Given the description of an element on the screen output the (x, y) to click on. 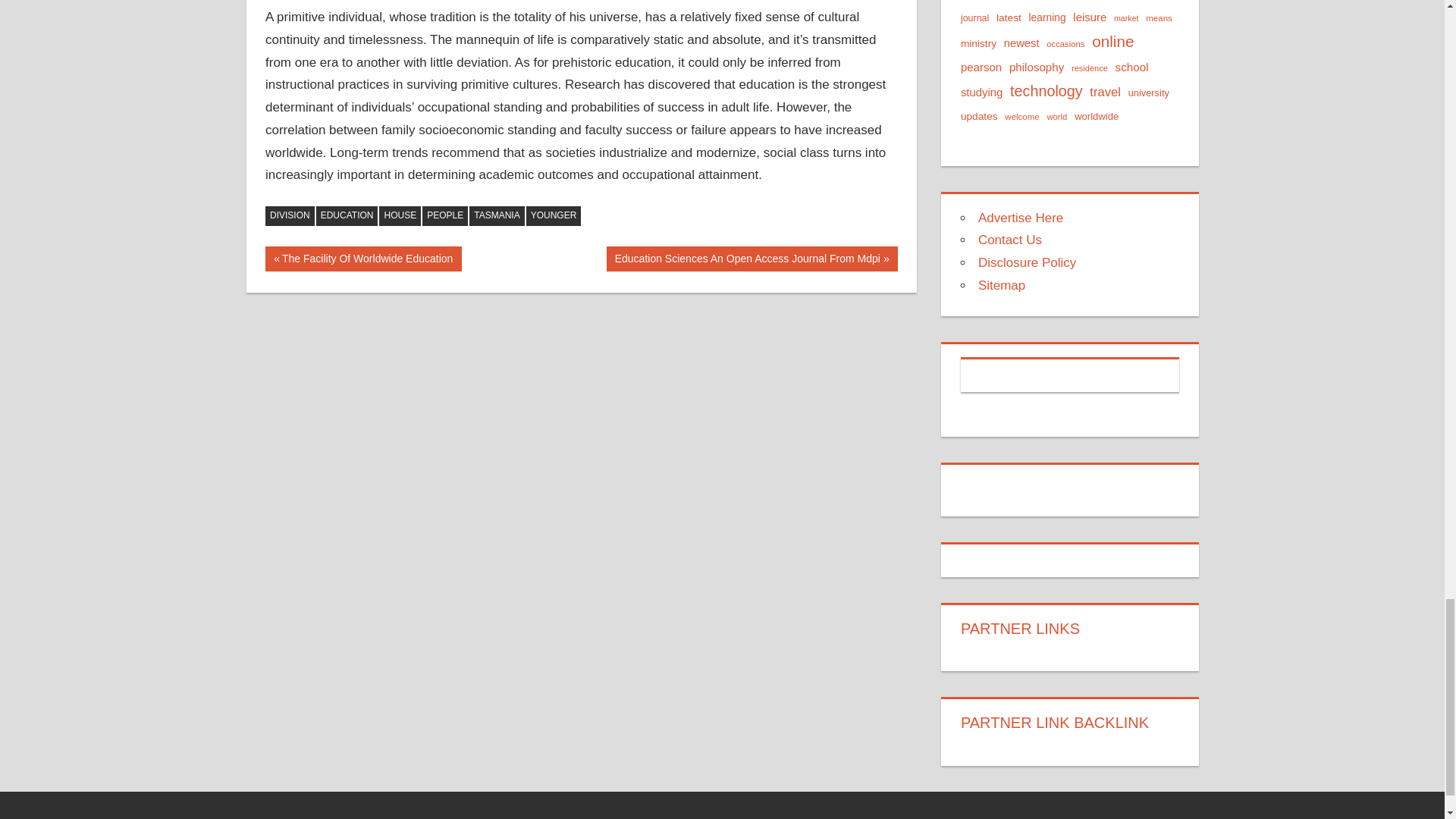
DIVISION (362, 258)
HOUSE (289, 216)
TASMANIA (399, 216)
PEOPLE (496, 216)
EDUCATION (444, 216)
YOUNGER (346, 216)
